Given the description of an element on the screen output the (x, y) to click on. 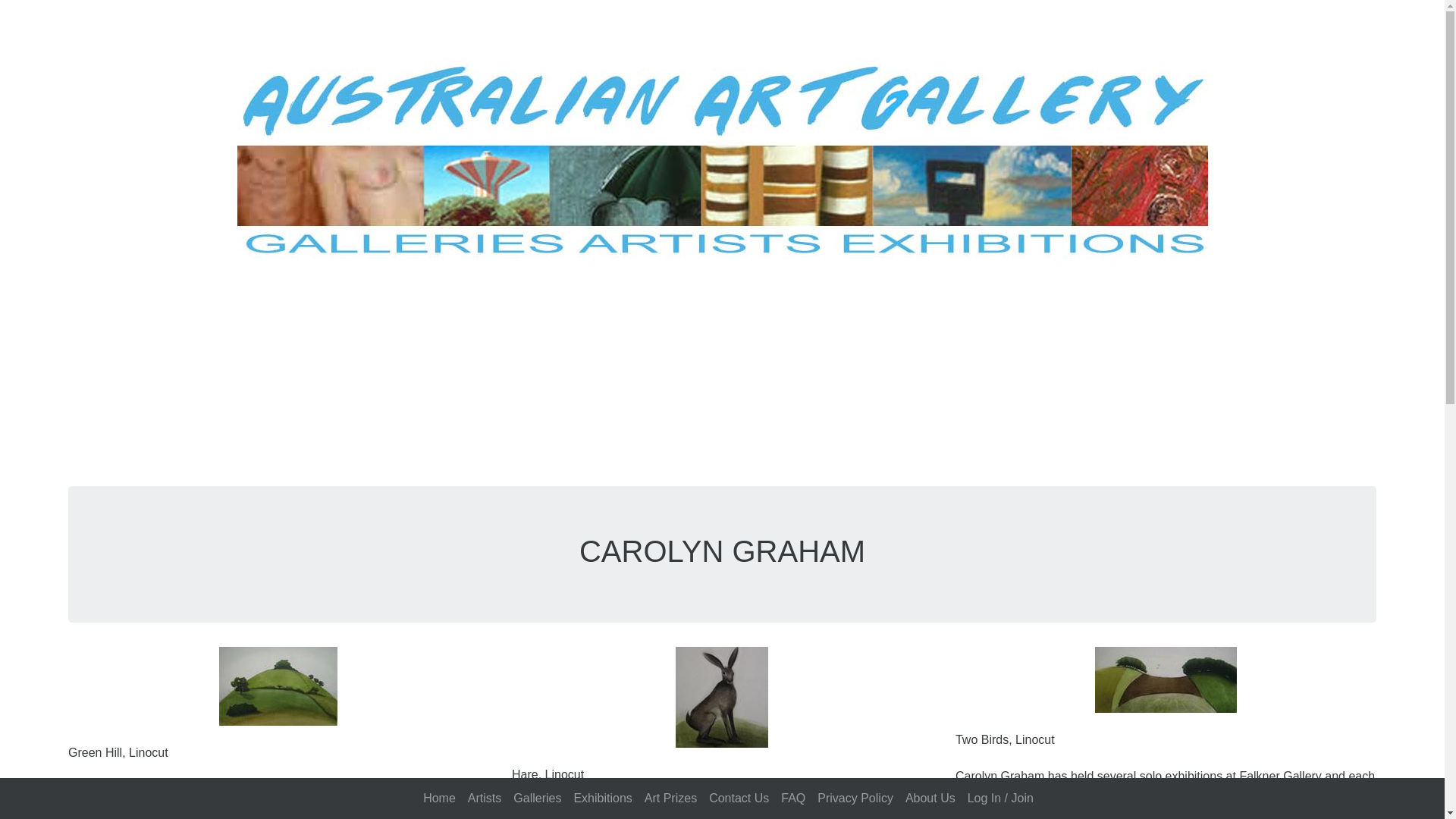
Who are we? Where are we? (930, 798)
Galleries (536, 798)
Introduction (439, 798)
Australian Galleries (536, 798)
Log In (1000, 798)
Australian Art Prizes (671, 798)
Contact Us (738, 798)
About Us (930, 798)
Exhibitions (602, 798)
